Given the description of an element on the screen output the (x, y) to click on. 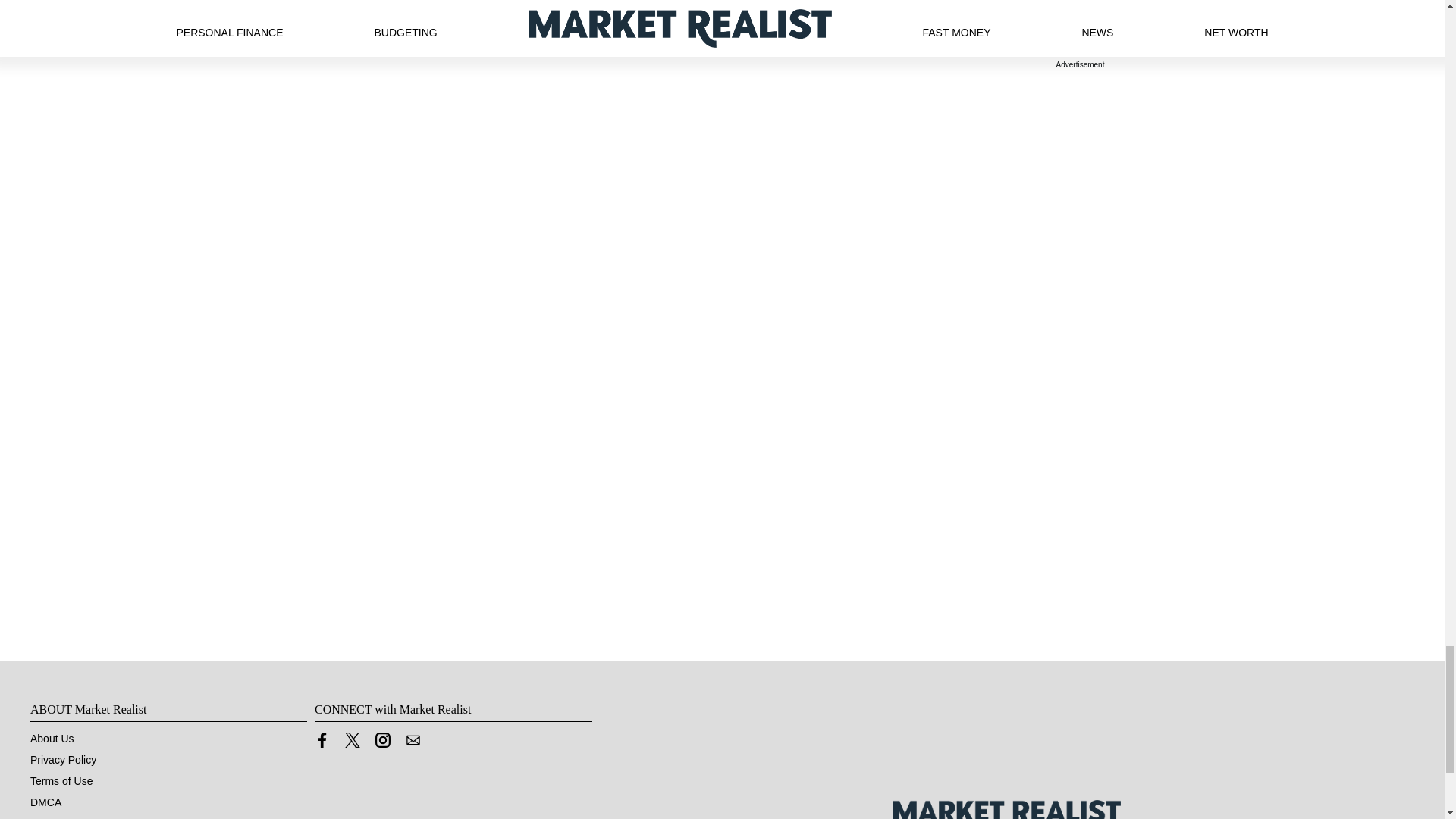
DMCA (45, 802)
Terms of Use (61, 780)
Contact us by Email (413, 743)
About Us (52, 738)
Link to Instagram (382, 739)
Privacy Policy (63, 759)
Contact us by Email (413, 739)
Link to X (352, 739)
Link to Instagram (382, 743)
Terms of Use (61, 780)
